Given the description of an element on the screen output the (x, y) to click on. 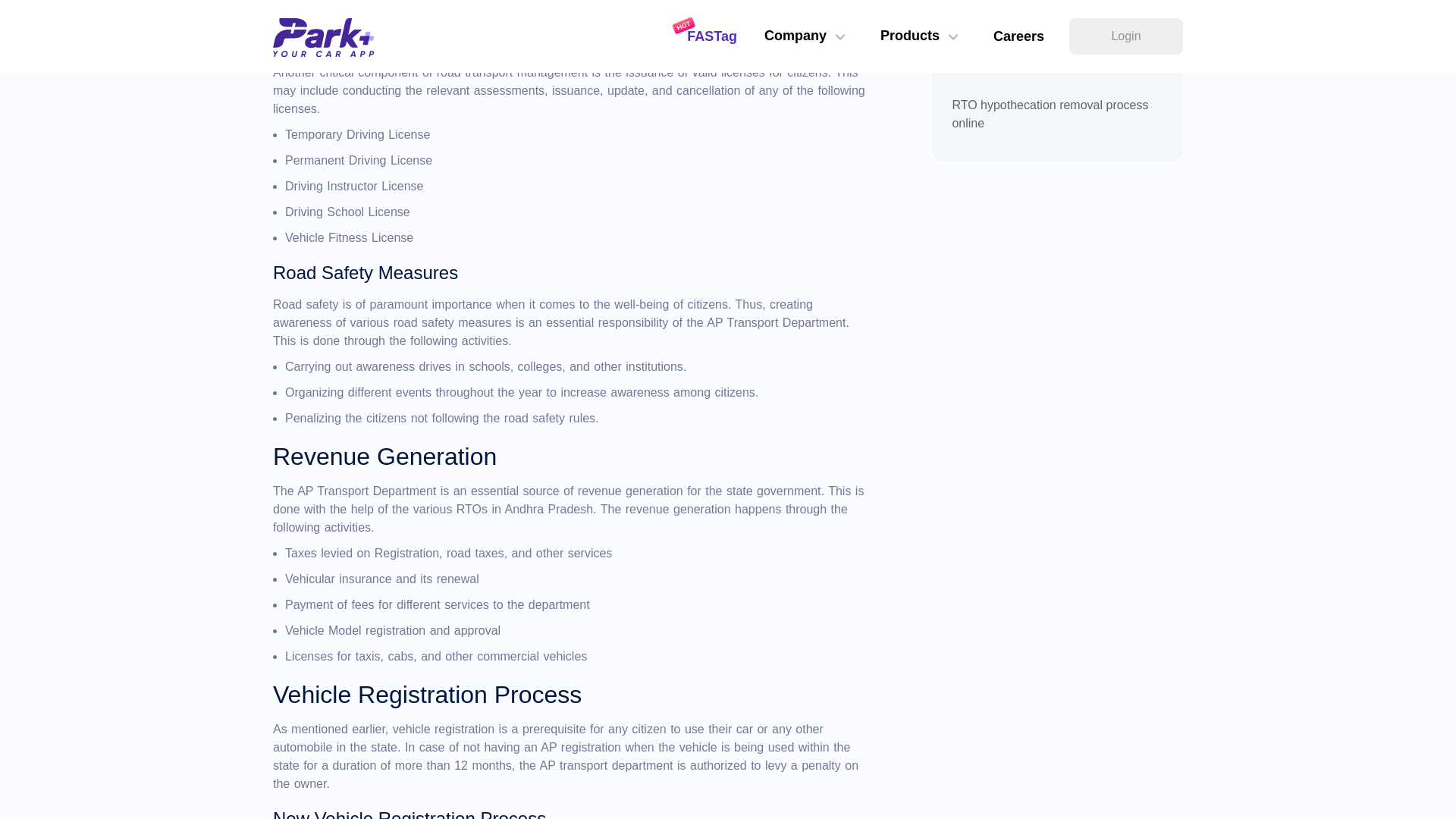
RTO hypothecation removal process online (1057, 118)
